Given the description of an element on the screen output the (x, y) to click on. 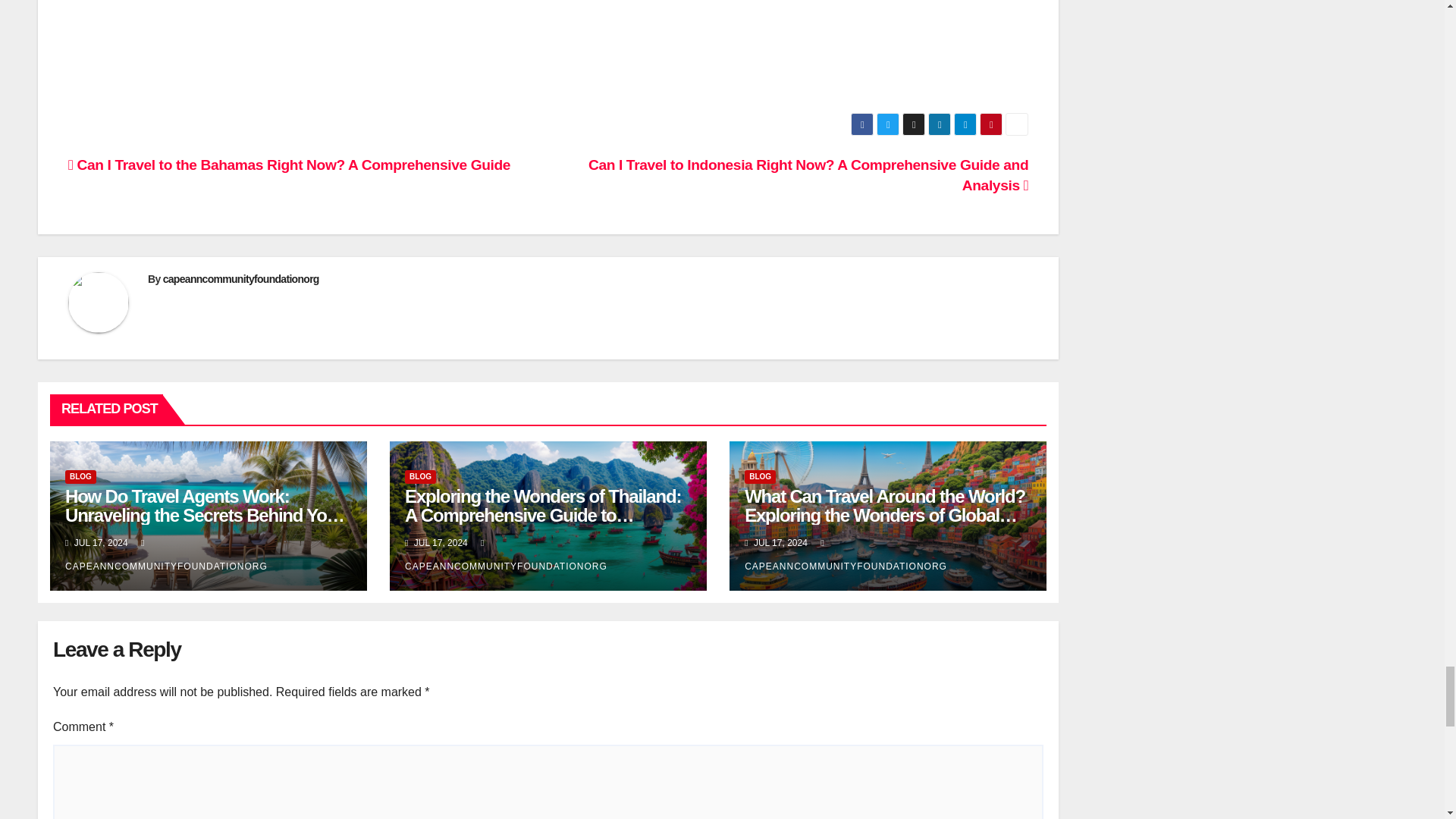
CAPEANNCOMMUNITYFOUNDATIONORG (166, 554)
BLOG (419, 477)
capeanncommunityfoundationorg (240, 278)
BLOG (80, 477)
BLOG (760, 477)
Can I Travel to the Bahamas Right Now? A Comprehensive Guide (289, 164)
CAPEANNCOMMUNITYFOUNDATIONORG (505, 554)
CAPEANNCOMMUNITYFOUNDATIONORG (845, 554)
